Given the description of an element on the screen output the (x, y) to click on. 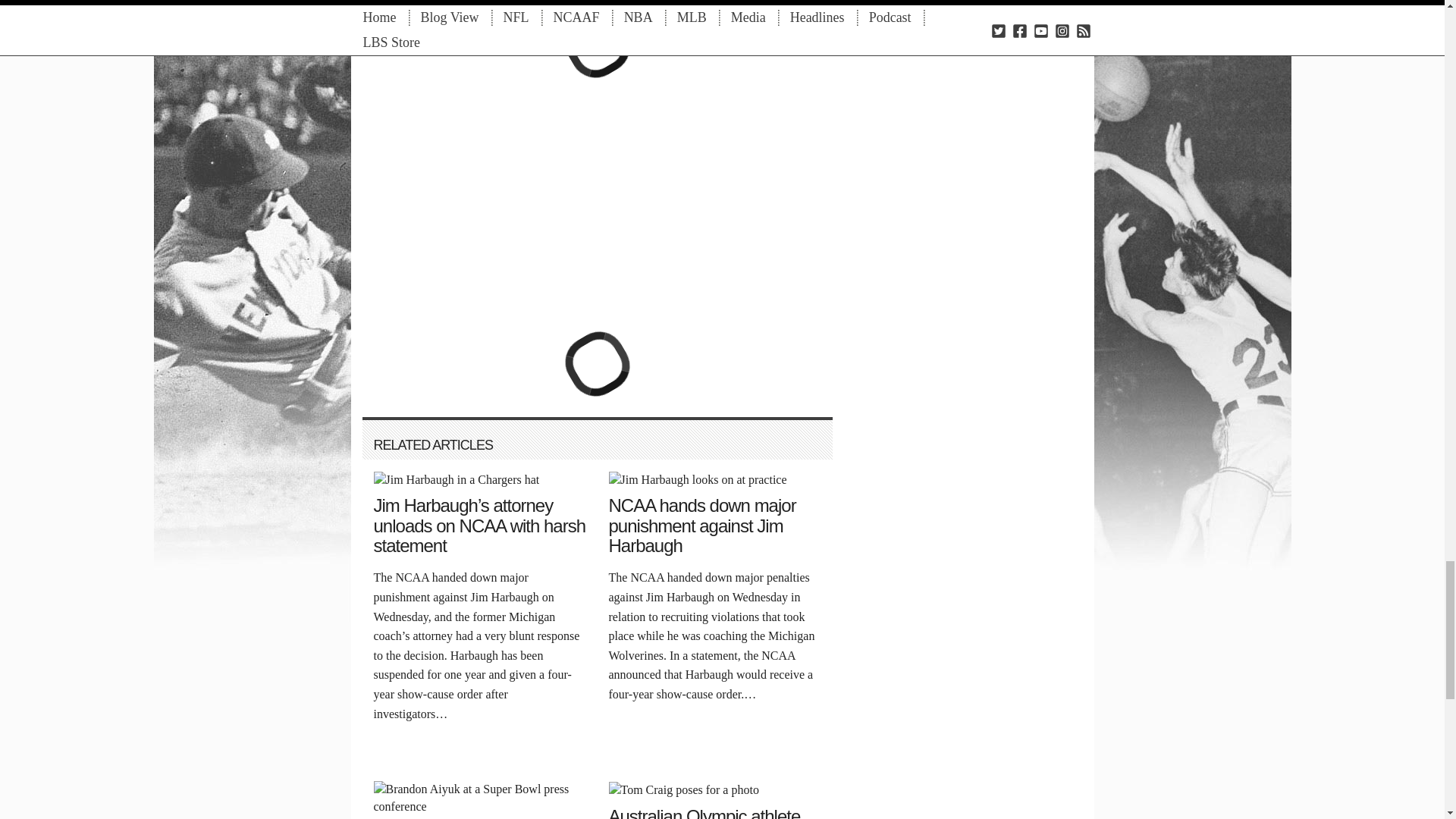
NCAA hands down major punishment against Jim Harbaugh (697, 478)
